Given the description of an element on the screen output the (x, y) to click on. 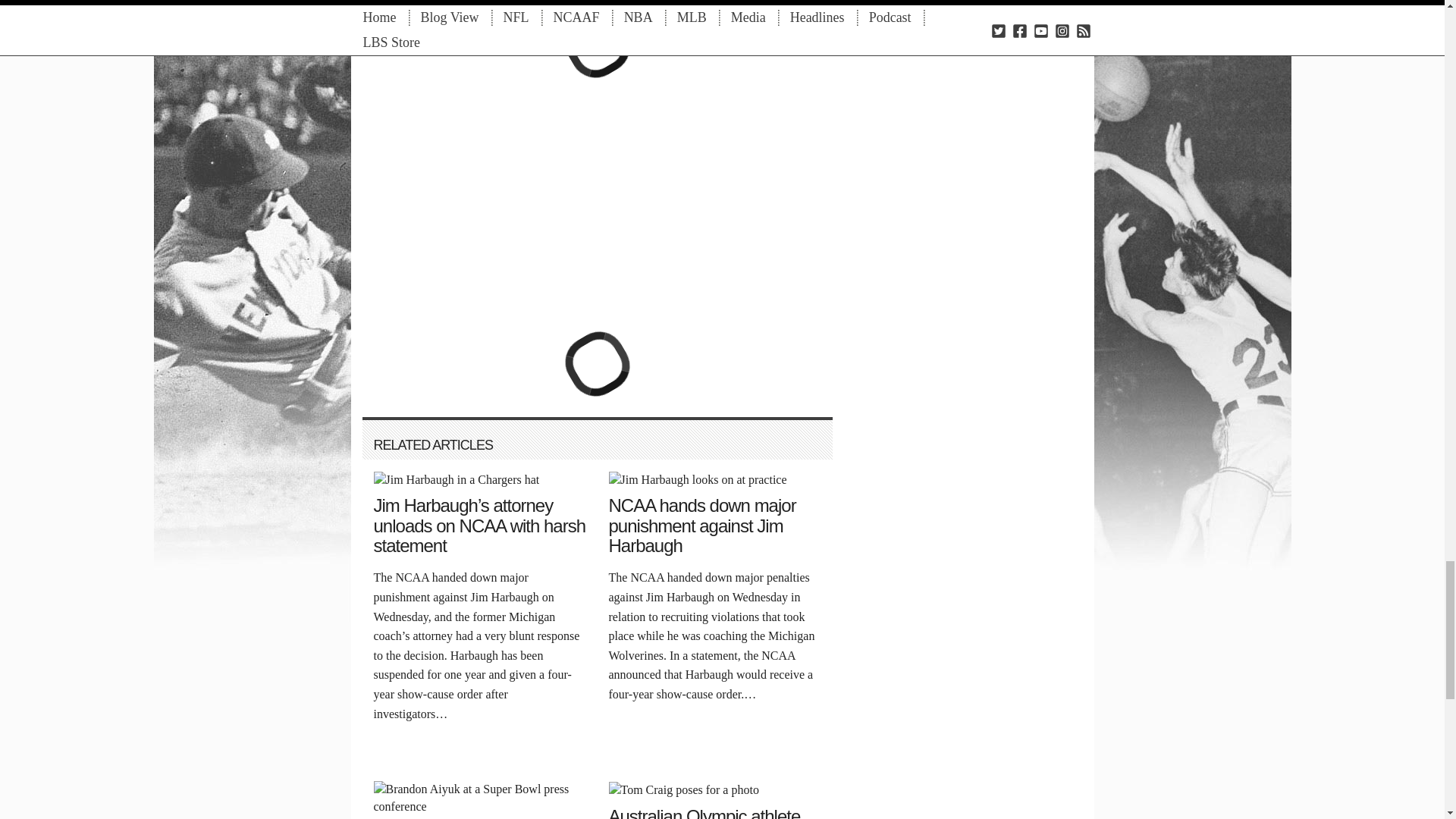
NCAA hands down major punishment against Jim Harbaugh (697, 478)
